Given the description of an element on the screen output the (x, y) to click on. 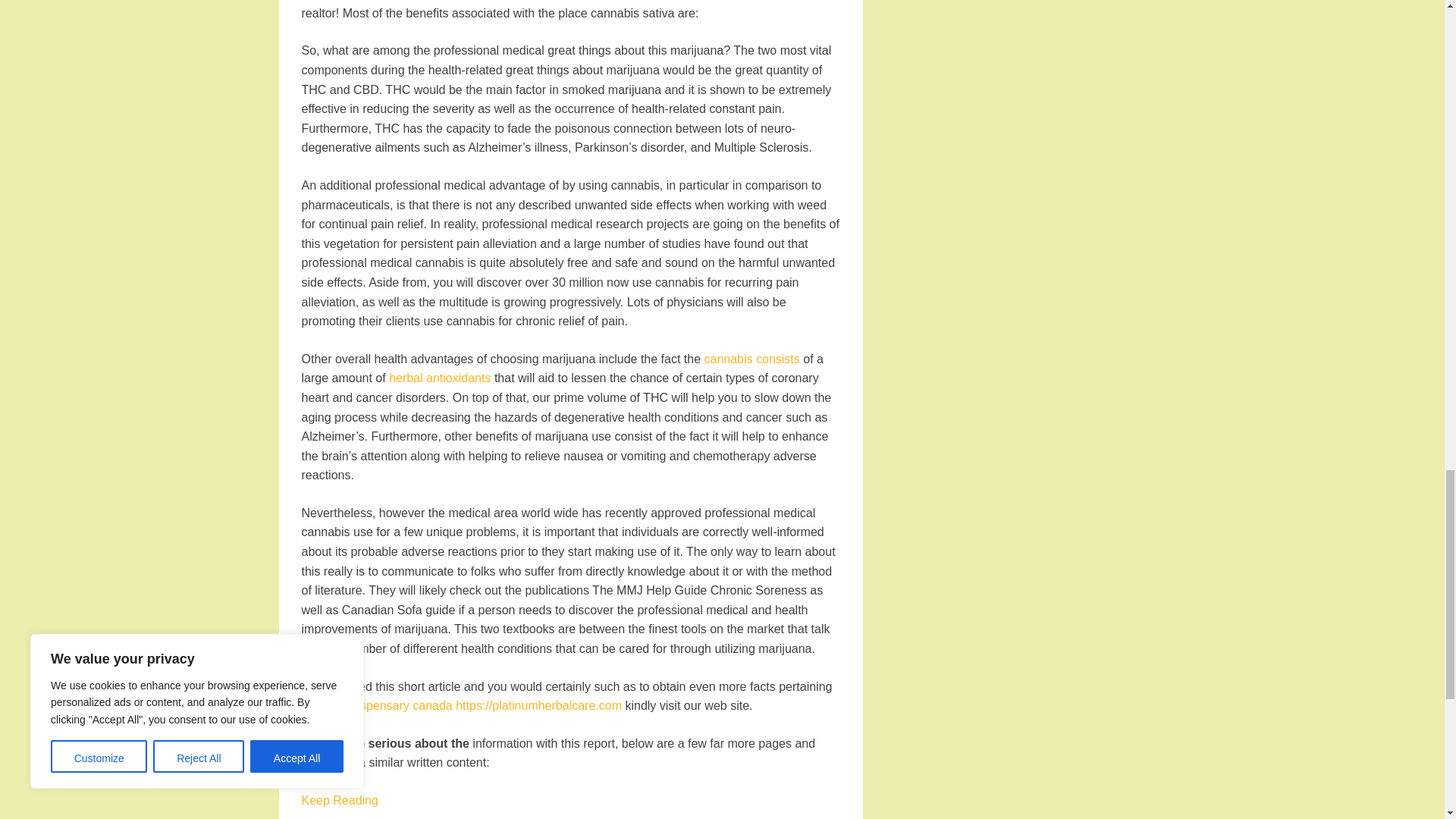
cannabis consists (751, 358)
Keep Reading (339, 799)
herbal antioxidants (439, 377)
